Given the description of an element on the screen output the (x, y) to click on. 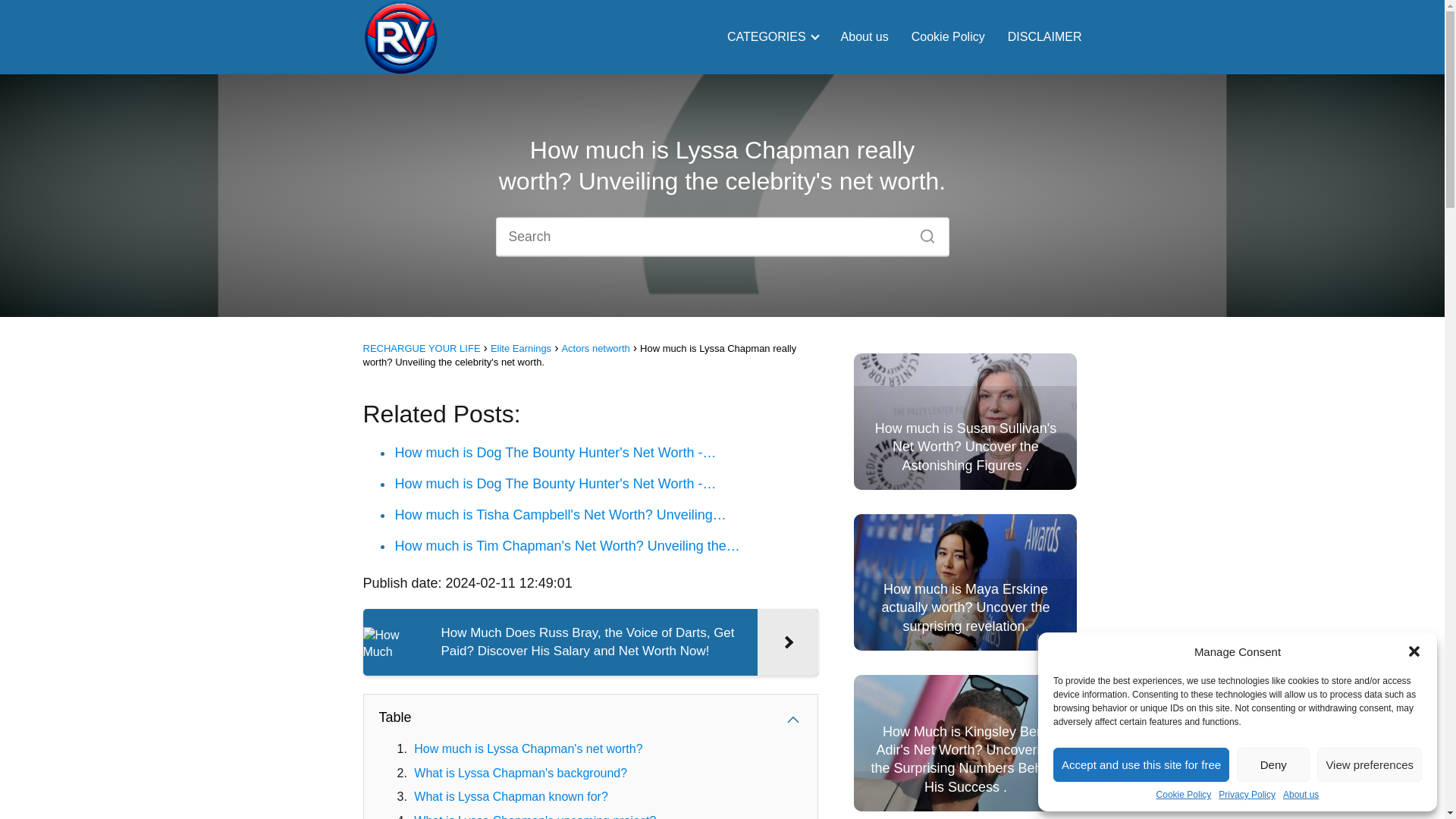
How much is Lyssa Chapman's net worth? (527, 748)
View preferences (1369, 764)
What is Lyssa Chapman's background? (520, 772)
Privacy Policy (1246, 794)
What is Lyssa Chapman known for? (510, 796)
What is Lyssa Chapman's upcoming project? (534, 816)
CATEGORIES (769, 36)
Cookie Policy (1183, 794)
About us (1300, 794)
